Given the description of an element on the screen output the (x, y) to click on. 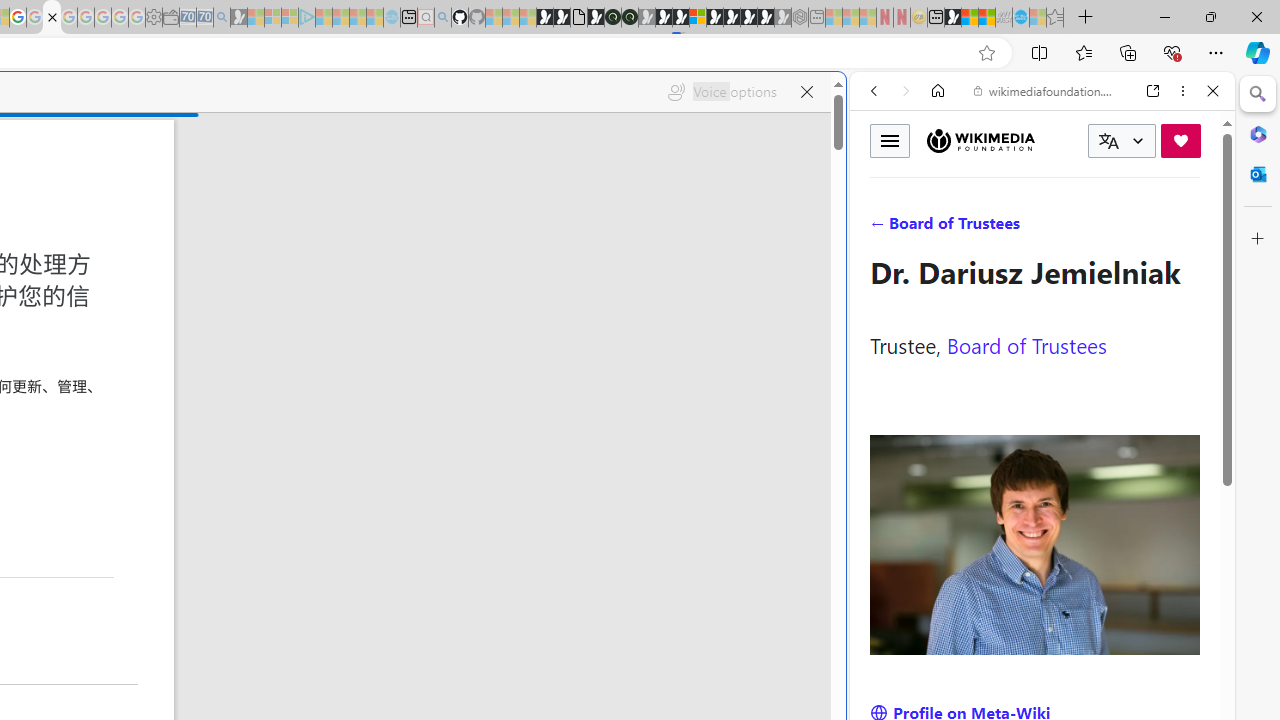
Play Zoo Boom in your browser | Games from Microsoft Start (561, 17)
Settings - Sleeping (153, 17)
Class: i icon icon-translate language-switcher__icon (1108, 141)
google_privacy_policy_zh-CN.pdf (51, 17)
